Given the description of an element on the screen output the (x, y) to click on. 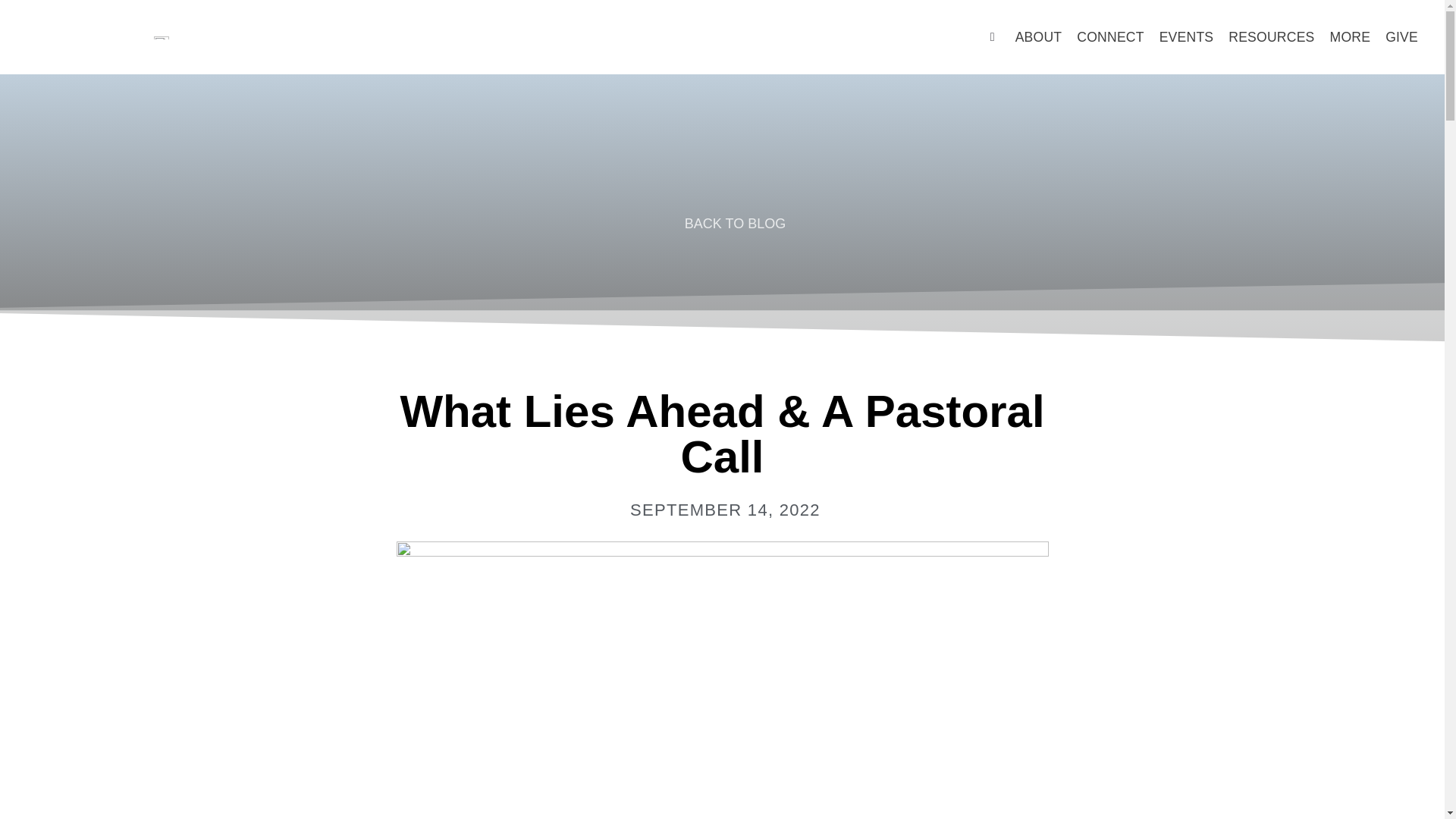
RESOURCES (1271, 36)
GIVE (1401, 36)
Instagram (375, 36)
Phone-alt (452, 36)
EVENTS (1186, 36)
Facebook-f (349, 36)
CONNECT (1109, 36)
Envelope (426, 36)
MORE (1350, 36)
ABOUT (1038, 36)
Vimeo (400, 36)
